Given the description of an element on the screen output the (x, y) to click on. 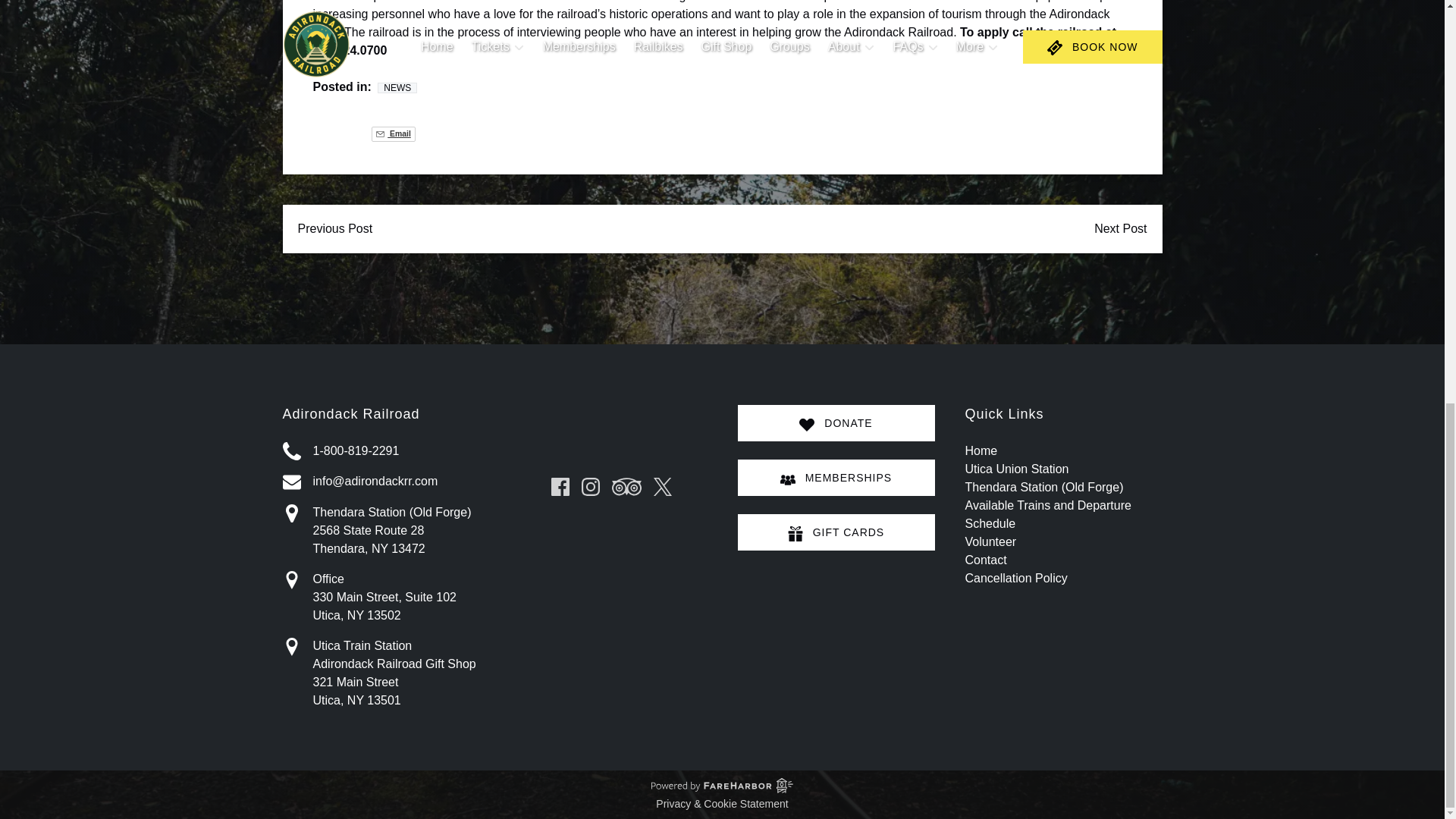
Map Marker (290, 513)
USERS (787, 478)
FareHarbor (1342, 89)
HEART (806, 424)
Next Post (1119, 228)
Phone (290, 451)
NEWS (396, 87)
Map Marker (290, 579)
GIFT (795, 533)
Map Marker (290, 647)
